Given the description of an element on the screen output the (x, y) to click on. 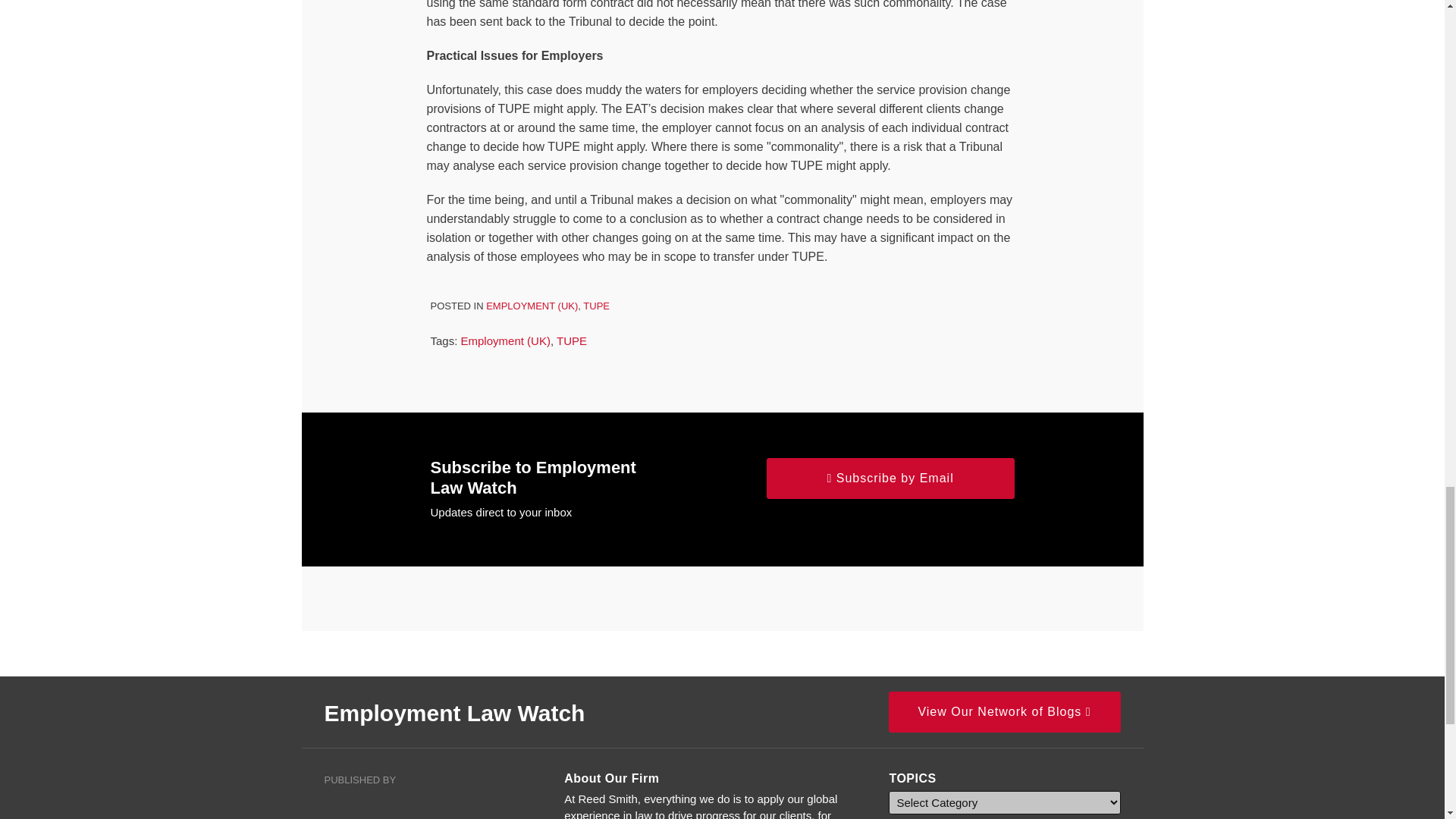
TUPE (571, 340)
Employment Law Watch (454, 713)
View Our Network of Blogs (1004, 711)
TUPE (596, 306)
Subscribe by Email (890, 477)
